Given the description of an element on the screen output the (x, y) to click on. 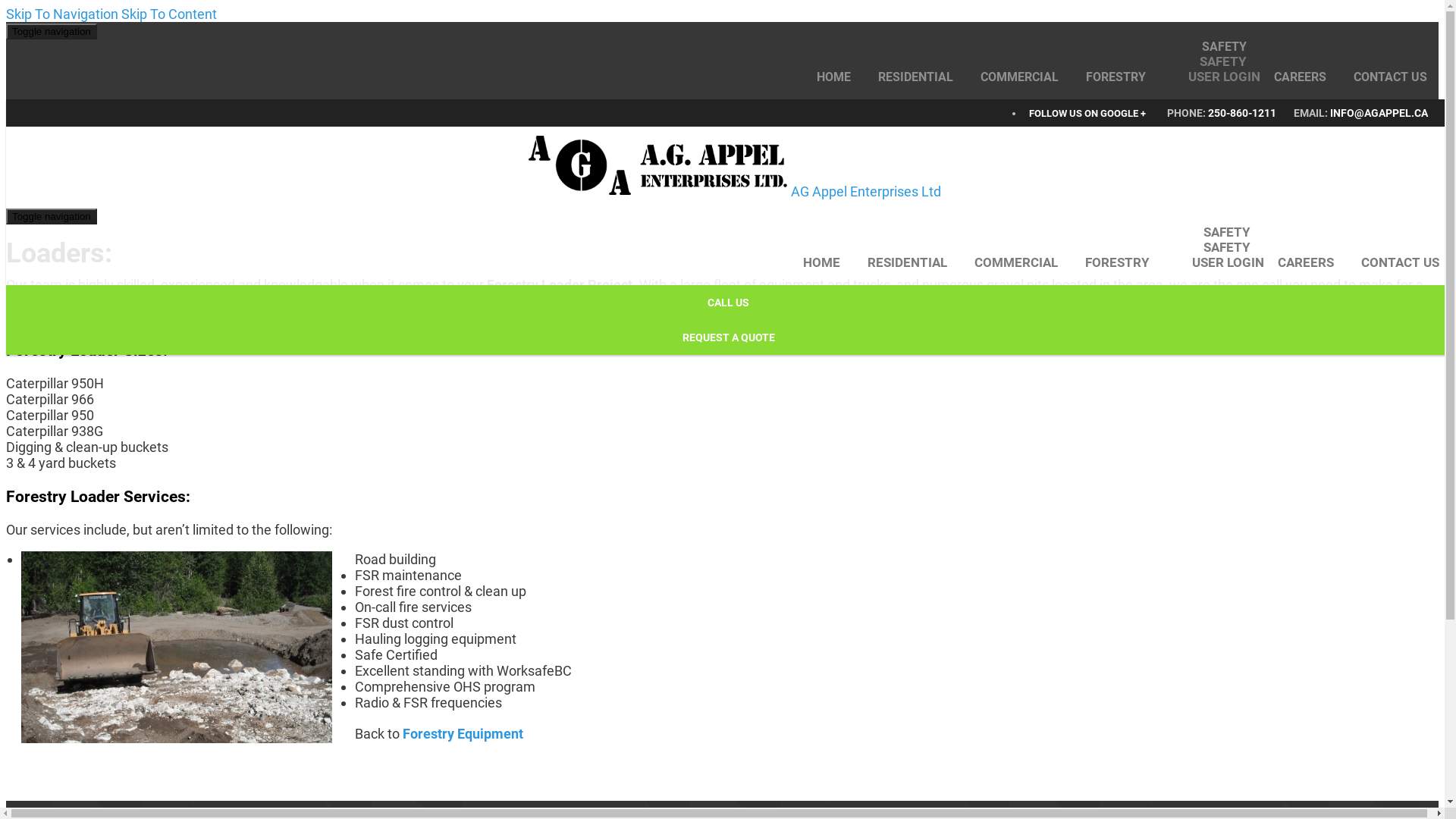
250-860-1211 Element type: text (1243, 112)
INFO@AGAPPEL.CA Element type: text (1378, 112)
SAFETY Element type: text (1226, 231)
Contact Us Element type: text (39, 316)
FORESTRY Element type: text (1115, 76)
REQUEST A QUOTE Element type: text (728, 337)
FOLLOW US ON GOOGLE + Element type: text (1087, 113)
Skip To Navigation Element type: text (62, 13)
HOME Element type: text (828, 262)
HOME Element type: text (840, 76)
COMMERCIAL Element type: text (1019, 76)
Toggle navigation Element type: text (51, 31)
SAFETY Element type: text (1229, 61)
SAFETY Element type: text (1233, 246)
COMMERCIAL Element type: text (1015, 262)
Toggle navigation Element type: text (51, 216)
Skip To Content Element type: text (168, 13)
FORESTRY Element type: text (1117, 262)
CONTACT US Element type: text (1393, 262)
AG Appel Enterprises Ltd Element type: text (733, 166)
RESIDENTIAL Element type: text (915, 76)
USER LOGIN Element type: text (1217, 76)
Forestry Equipment Element type: text (462, 733)
CAREERS Element type: text (1305, 262)
SAFETY Element type: text (1224, 46)
RESIDENTIAL Element type: text (906, 262)
CALL US Element type: text (727, 302)
USER LOGIN Element type: text (1221, 261)
CONTACT US Element type: text (1383, 76)
CAREERS Element type: text (1299, 76)
